Given the description of an element on the screen output the (x, y) to click on. 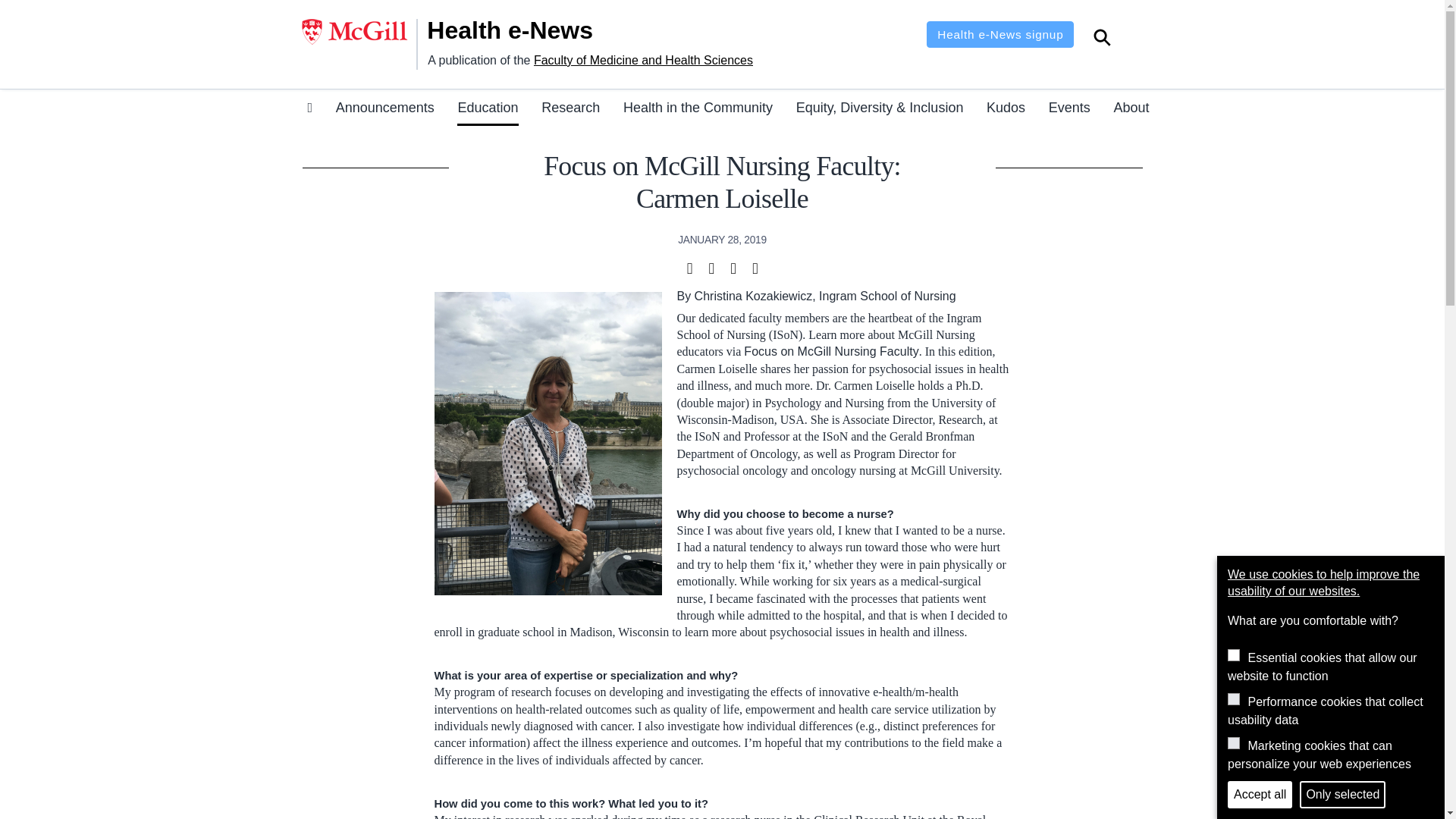
performance (1233, 698)
McGill University (358, 31)
Education (487, 110)
Home (529, 30)
Faculty of Medicine and Health Sciences (643, 60)
Health e-News signup (1000, 34)
About (1130, 110)
Health e-News (529, 30)
Search (1102, 40)
Events (1069, 110)
